Given the description of an element on the screen output the (x, y) to click on. 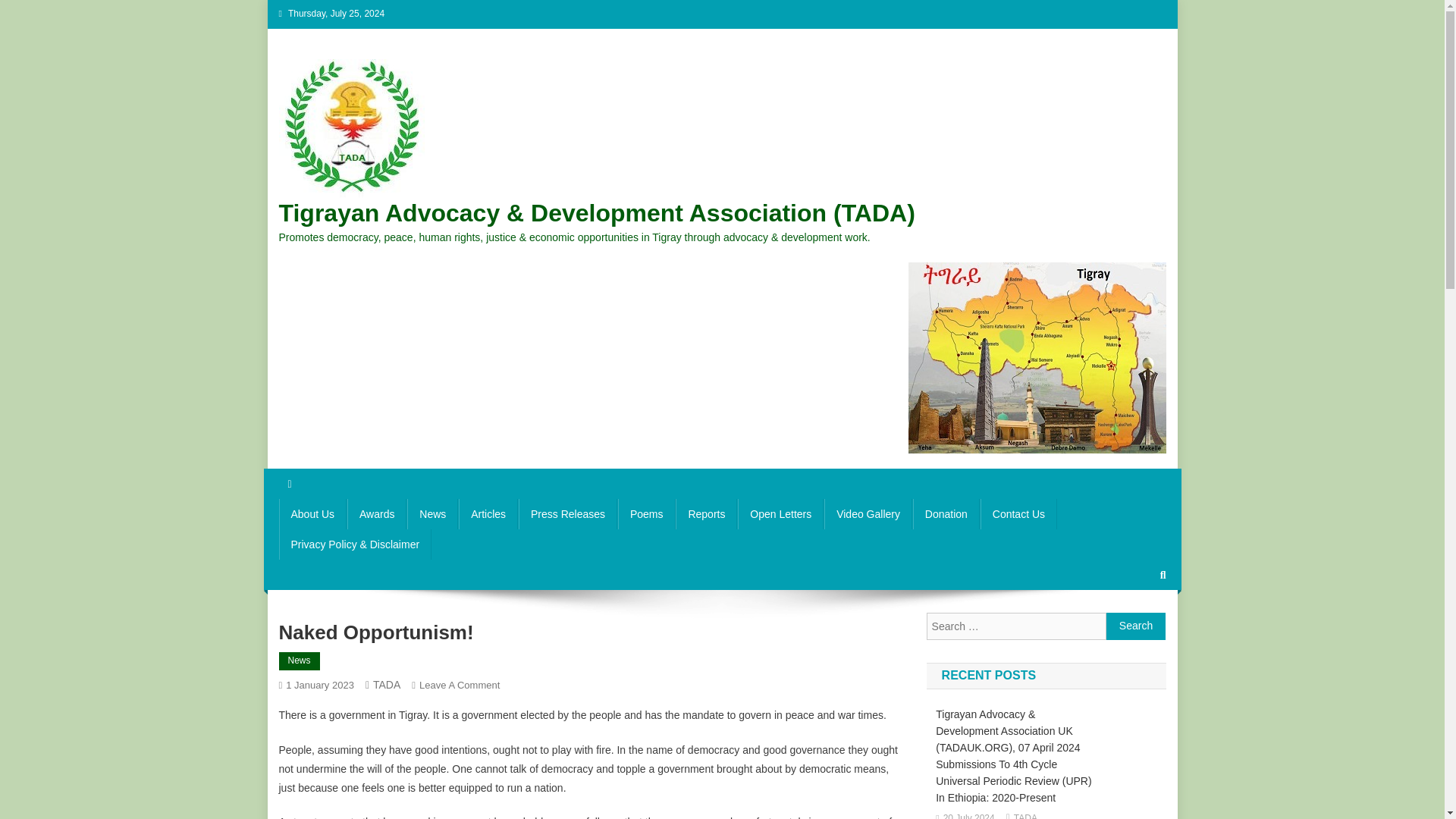
TADA (386, 684)
Reports (705, 513)
1 January 2023 (319, 685)
Articles (488, 513)
Open Letters (781, 513)
Search (1133, 625)
Awards (459, 685)
News (376, 513)
Press Releases (299, 660)
News (567, 513)
Search (432, 513)
Donation (1136, 625)
Contact Us (945, 513)
Poems (1018, 513)
